Given the description of an element on the screen output the (x, y) to click on. 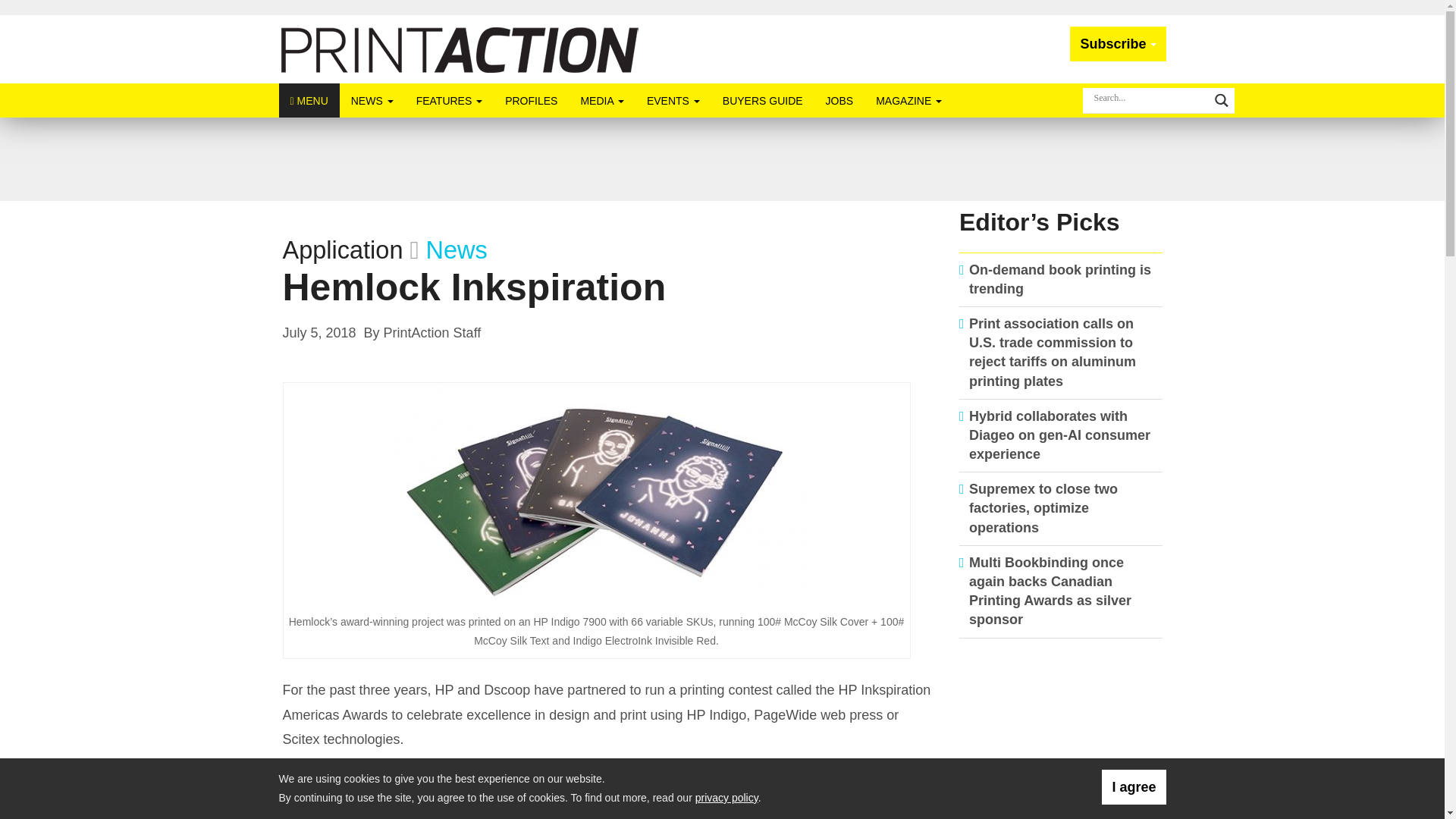
PROFILES (531, 100)
Click to show site navigation (309, 100)
MAGAZINE (908, 100)
Subscribe (1118, 43)
FEATURES (449, 100)
EVENTS (672, 100)
3rd party ad content (721, 159)
MENU (309, 100)
PrintAction (459, 48)
MEDIA (601, 100)
JOBS (838, 100)
3rd party ad content (1060, 736)
NEWS (371, 100)
BUYERS GUIDE (762, 100)
